Given the description of an element on the screen output the (x, y) to click on. 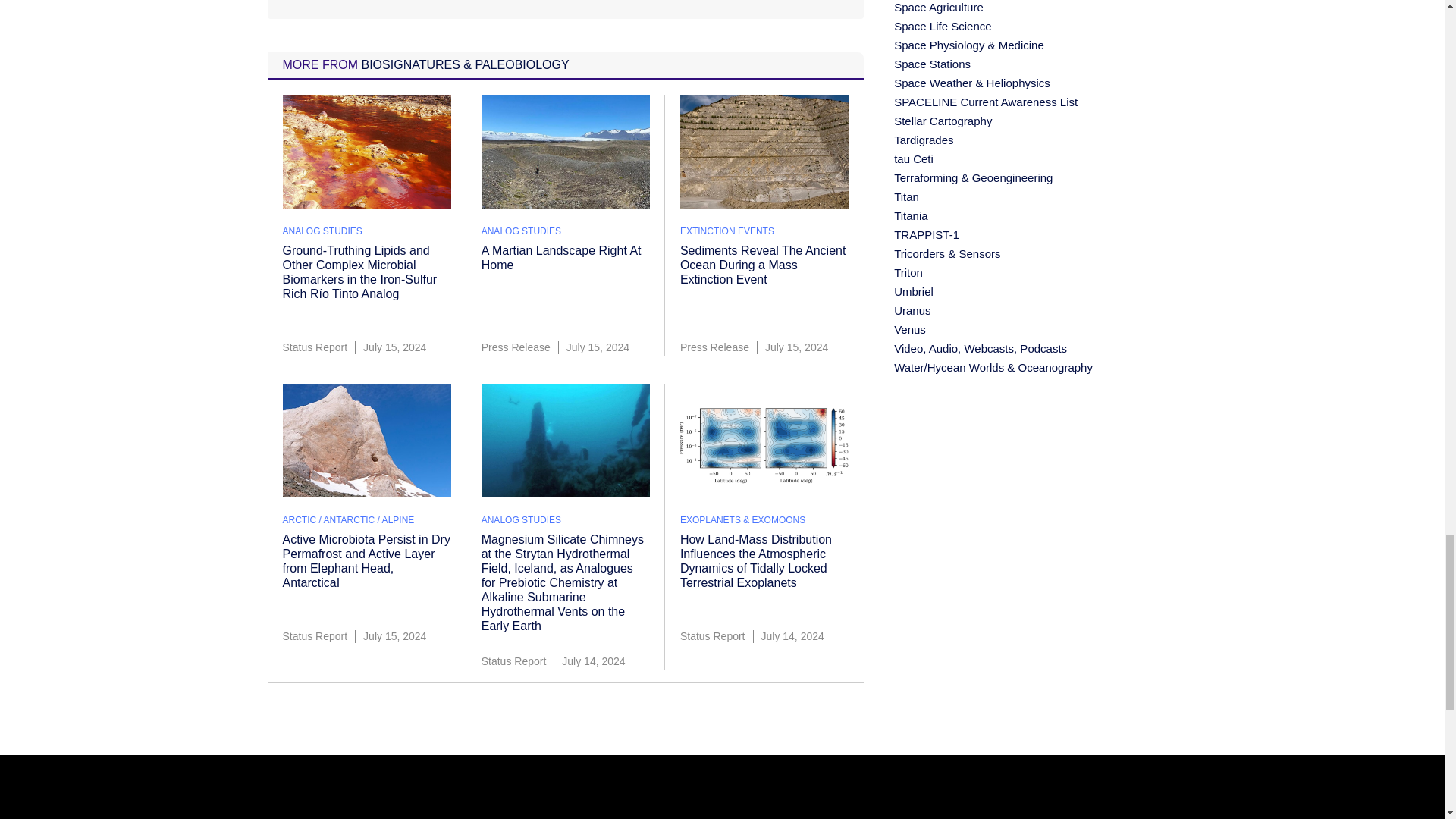
ANALOG STUDIES (520, 231)
A Martian Landscape Right At Home (561, 257)
ANALOG STUDIES (321, 231)
